Given the description of an element on the screen output the (x, y) to click on. 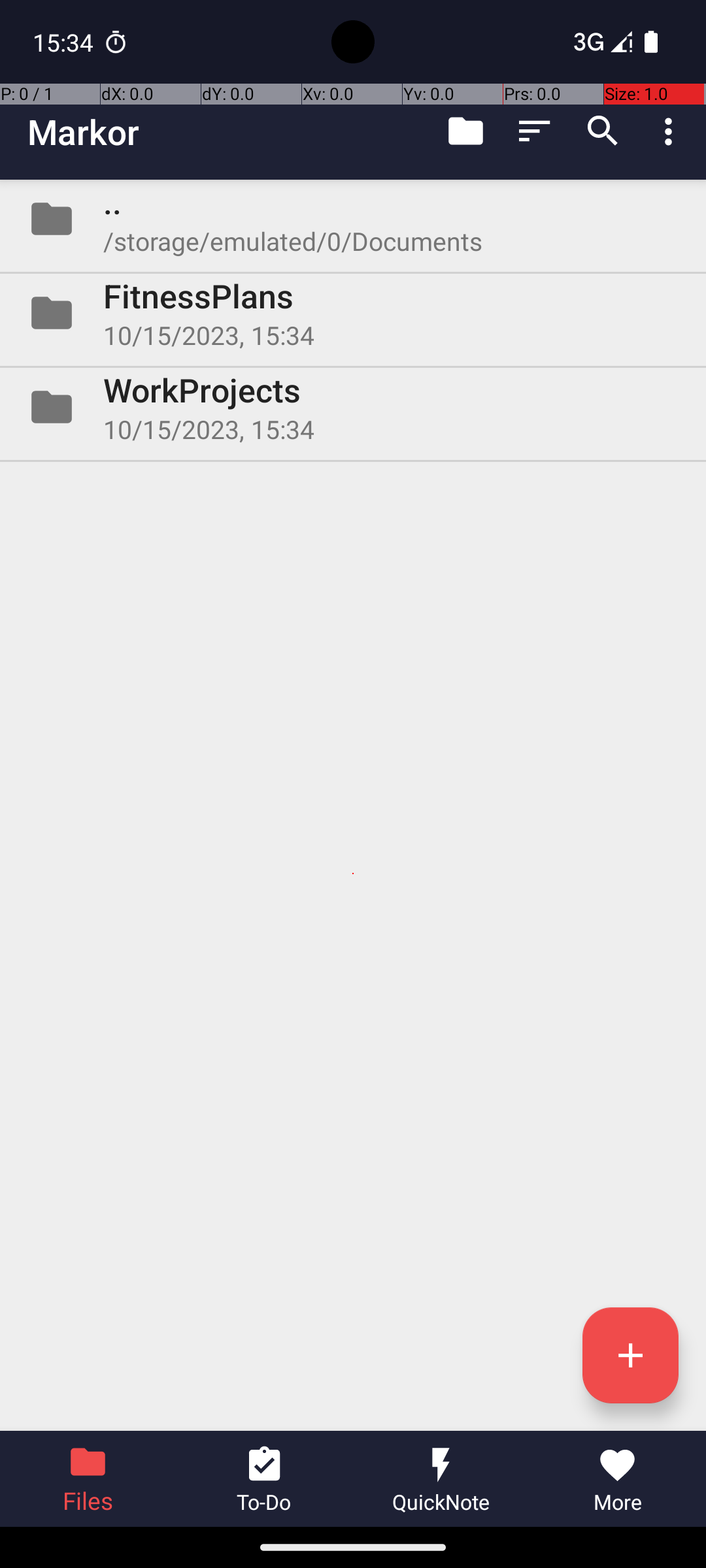
Folder FitnessPlans  Element type: android.widget.LinearLayout (353, 312)
Folder WorkProjects  Element type: android.widget.LinearLayout (353, 406)
